Given the description of an element on the screen output the (x, y) to click on. 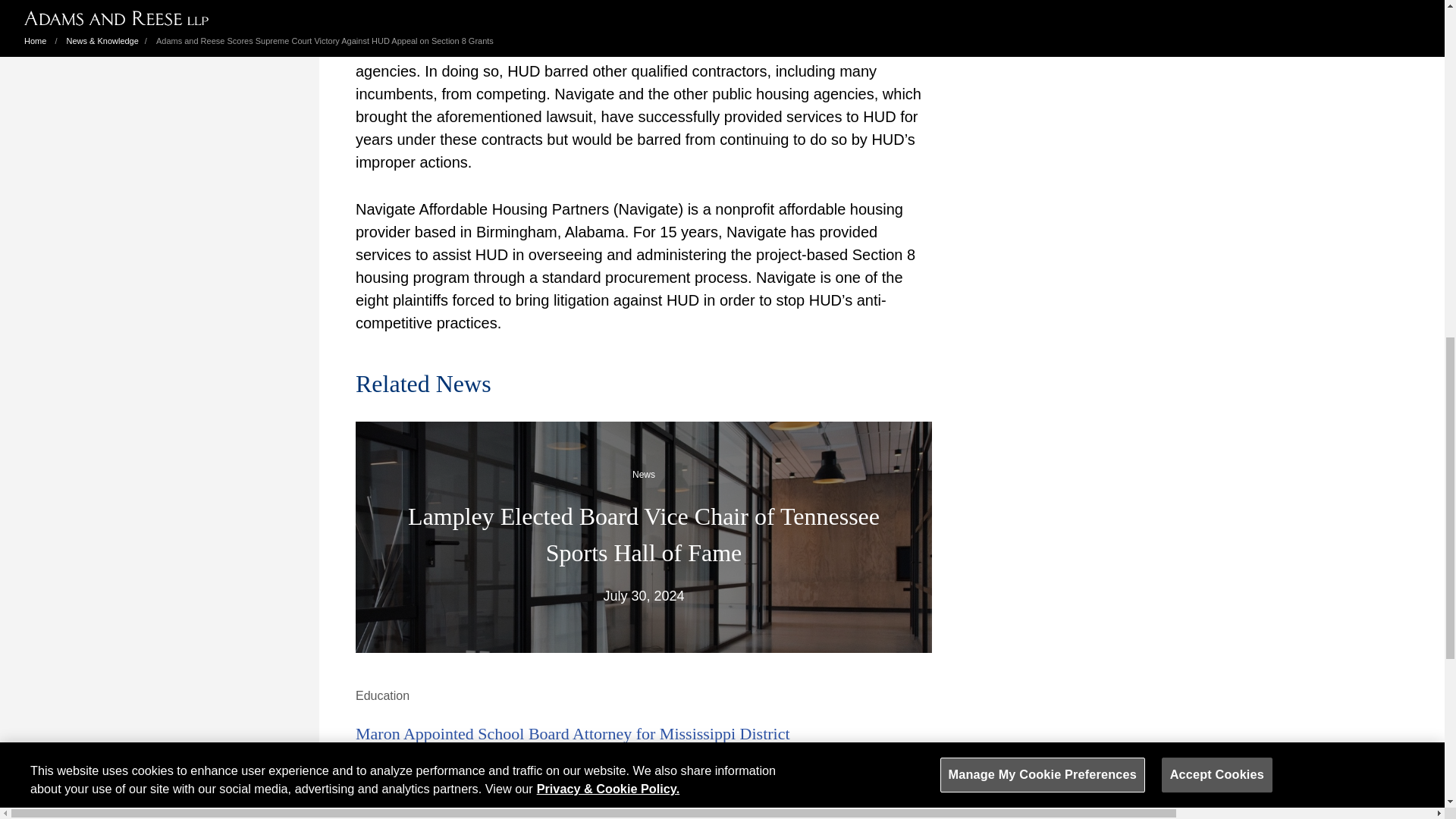
Education (382, 695)
